Given the description of an element on the screen output the (x, y) to click on. 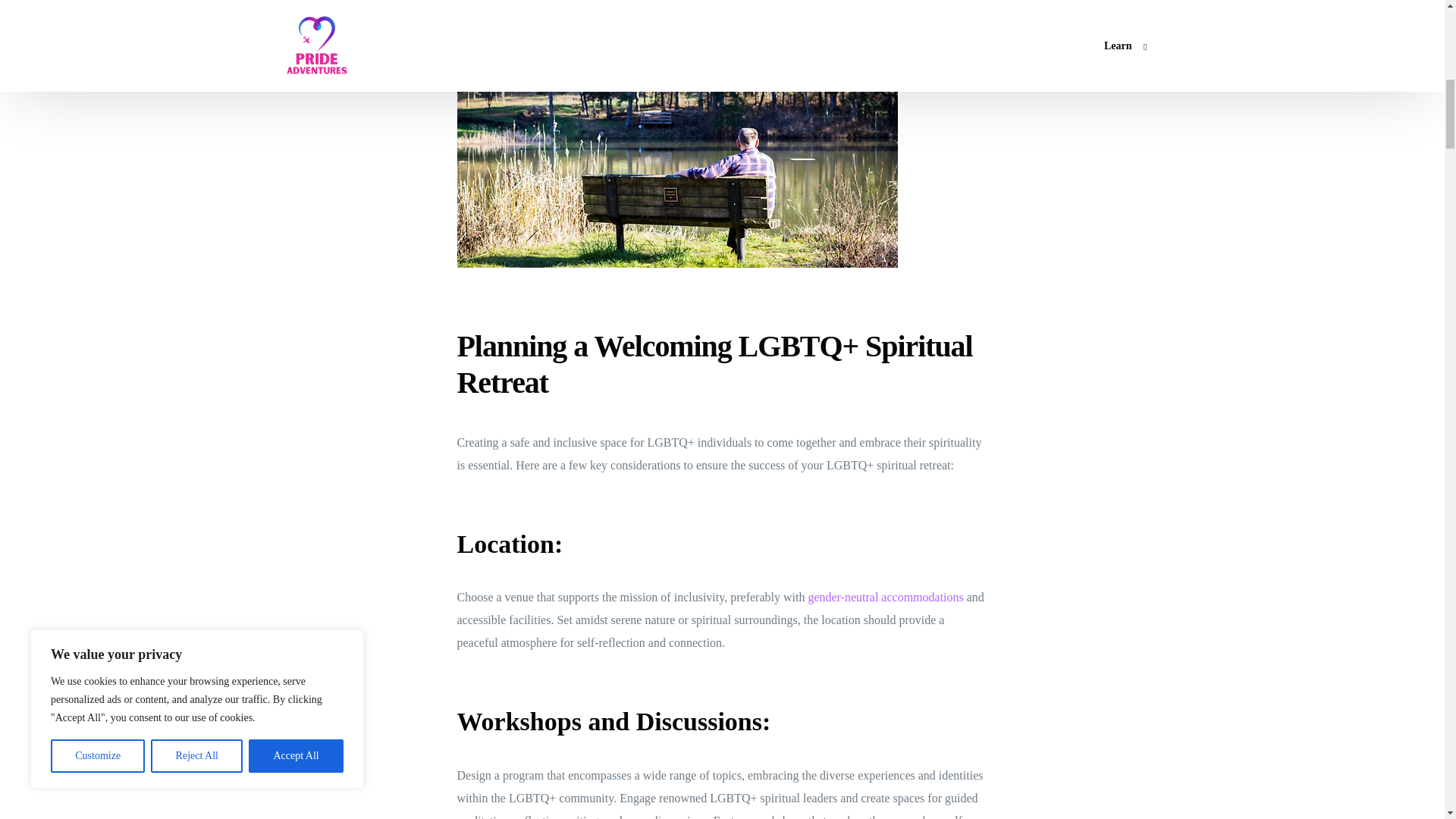
Fostering a Safe Space for Vulnerability and Healing (596, 9)
gender-neutral accommodations (885, 596)
Wrapping Up (501, 54)
